Given the description of an element on the screen output the (x, y) to click on. 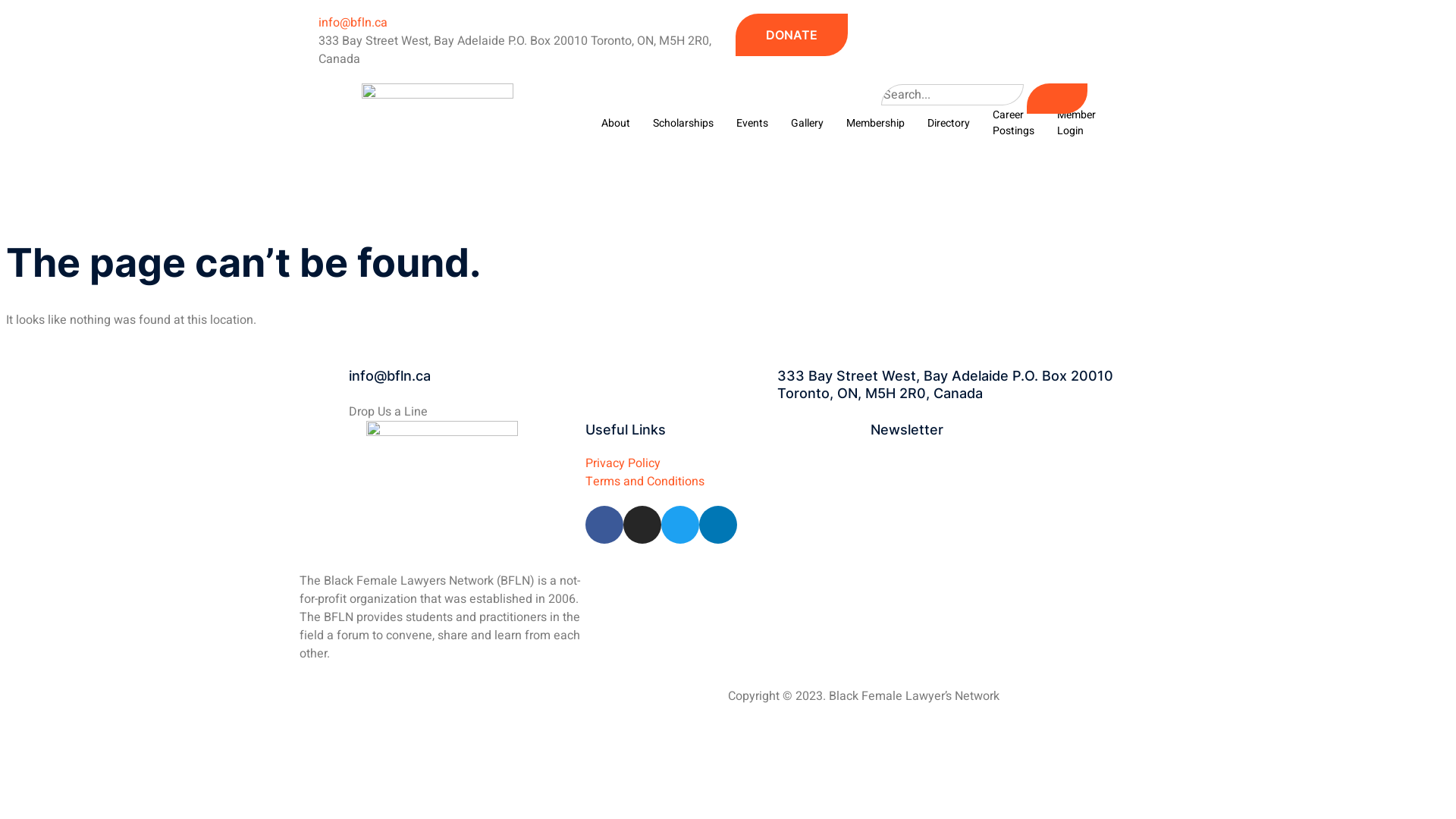
Terms and Conditions Element type: text (728, 480)
Member Login Element type: text (1076, 122)
Privacy Policy Element type: text (728, 462)
Scholarships Element type: text (682, 122)
info@bfln.ca Element type: text (389, 375)
Gallery Element type: text (806, 122)
About Element type: text (615, 122)
Directory Element type: text (948, 122)
DONATE Element type: text (791, 34)
Career Postings Element type: text (1013, 122)
info@bfln.ca Element type: text (343, 22)
Membership Element type: text (875, 122)
Events Element type: text (751, 122)
